Given the description of an element on the screen output the (x, y) to click on. 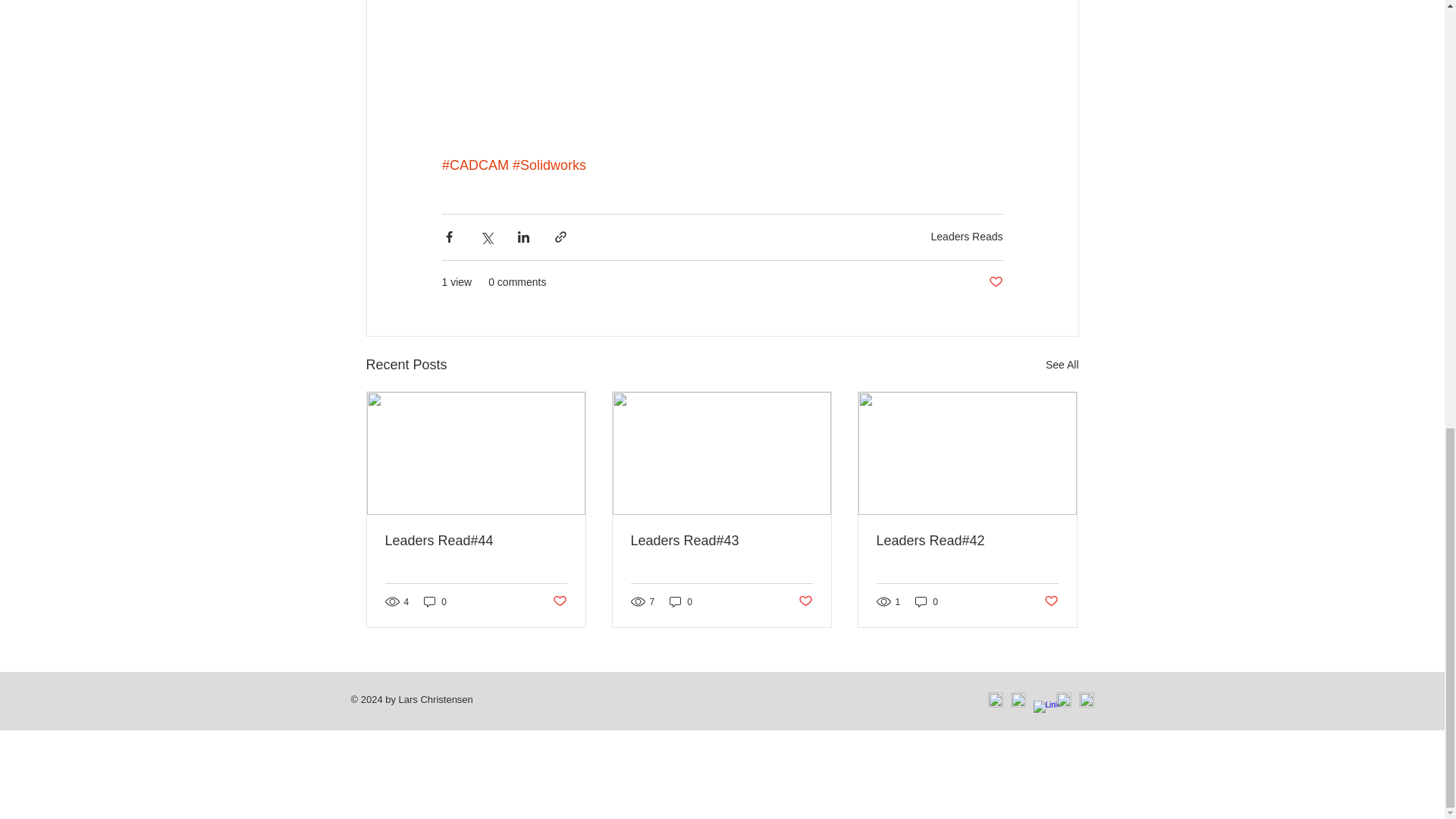
See All (1061, 364)
Post not marked as liked (995, 282)
0 (435, 601)
0 (681, 601)
Post not marked as liked (558, 601)
0 (926, 601)
Leaders Reads (967, 236)
Post not marked as liked (804, 601)
Post not marked as liked (1050, 601)
